Given the description of an element on the screen output the (x, y) to click on. 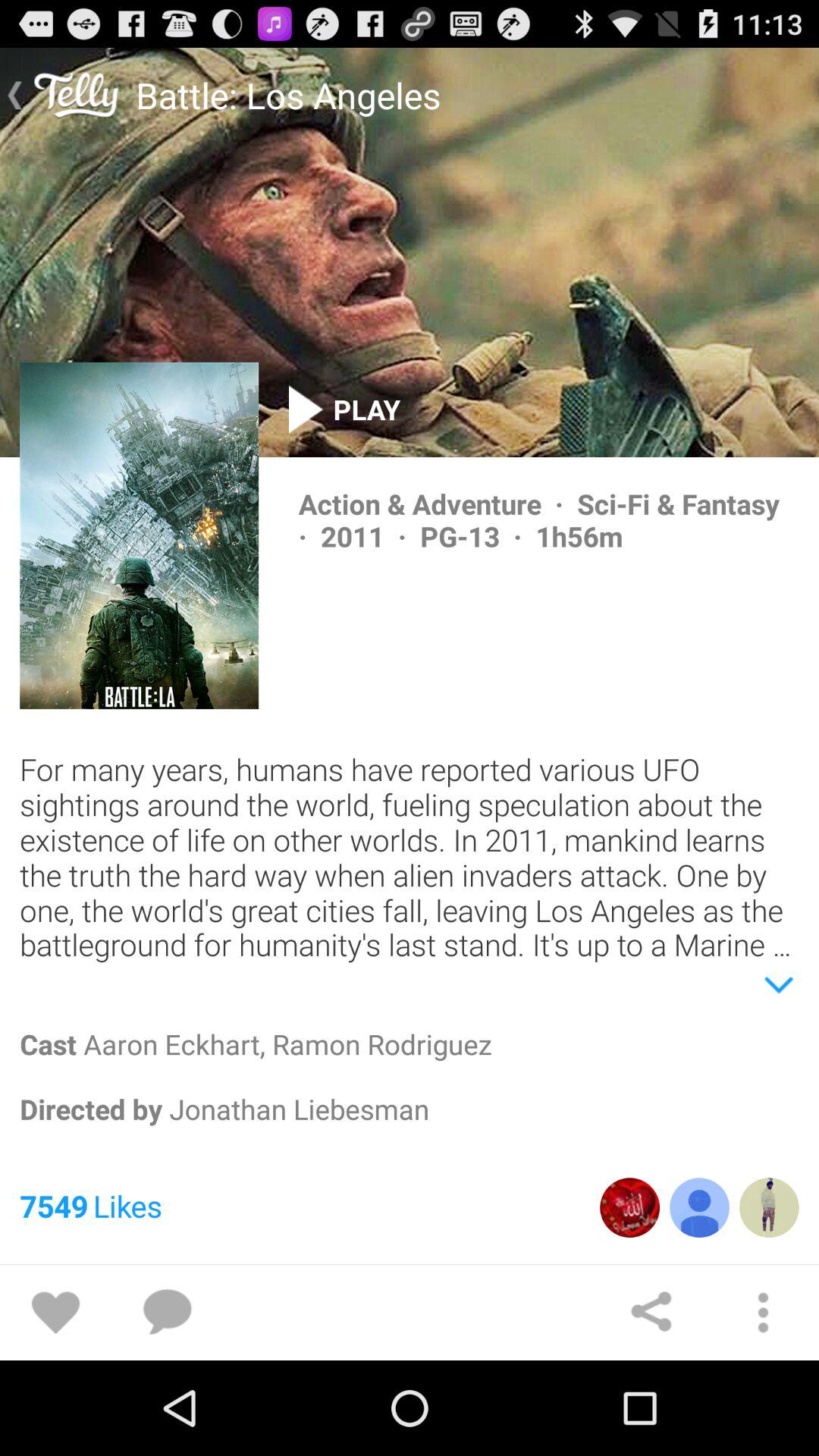
go to search option (166, 1312)
